Given the description of an element on the screen output the (x, y) to click on. 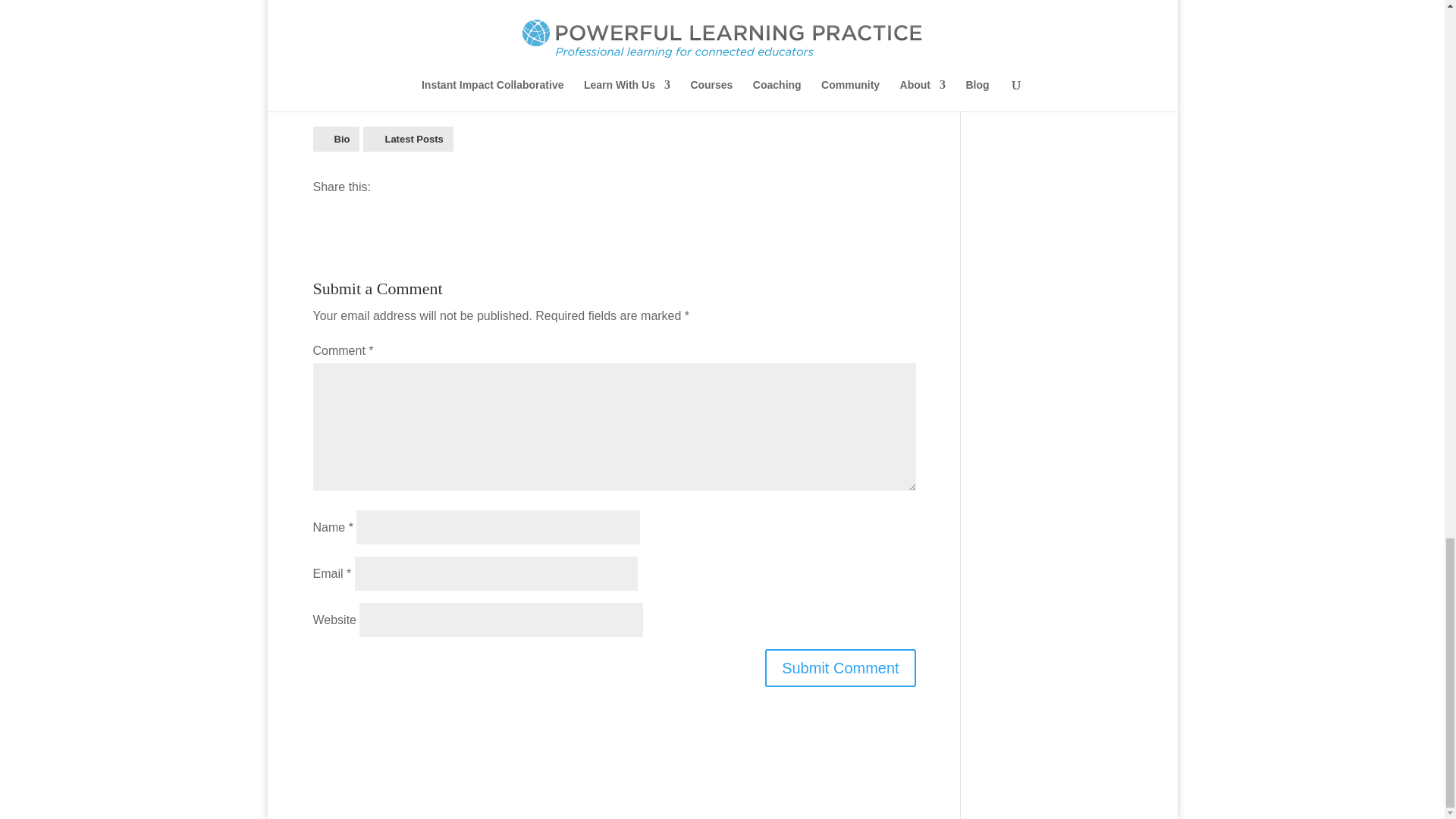
Submit Comment (840, 668)
PLP Community Hub (737, 44)
Submit Comment (840, 668)
Bio (336, 138)
Latest Posts (407, 138)
